Given the description of an element on the screen output the (x, y) to click on. 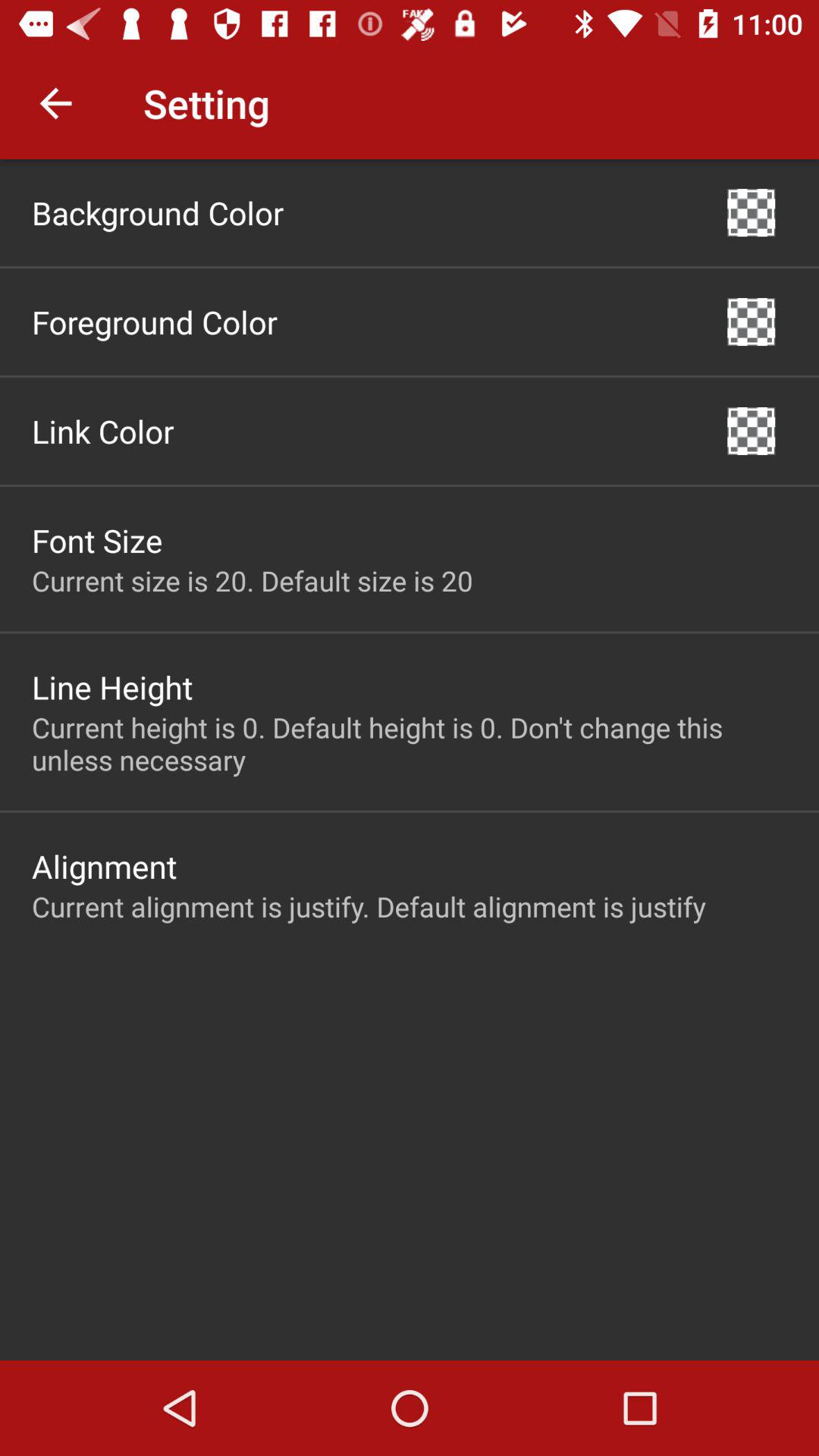
open item above font size (102, 430)
